Given the description of an element on the screen output the (x, y) to click on. 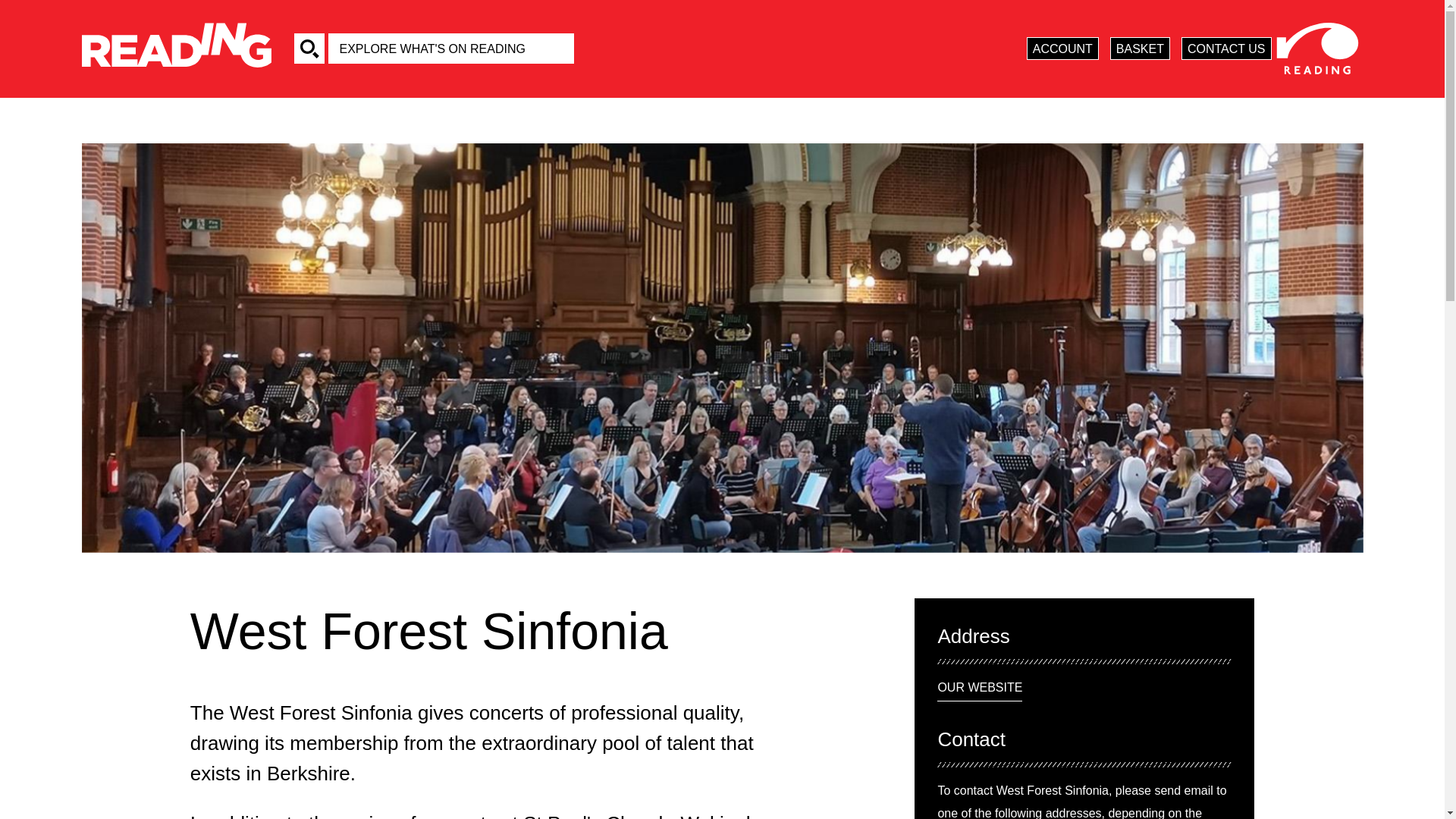
ACCOUNT (1062, 47)
What's On Reading (175, 48)
West Forest Sinfonia (496, 630)
CONTACT US (1225, 47)
Search (309, 48)
OUR WEBSITE (979, 688)
BASKET (1139, 47)
